Given the description of an element on the screen output the (x, y) to click on. 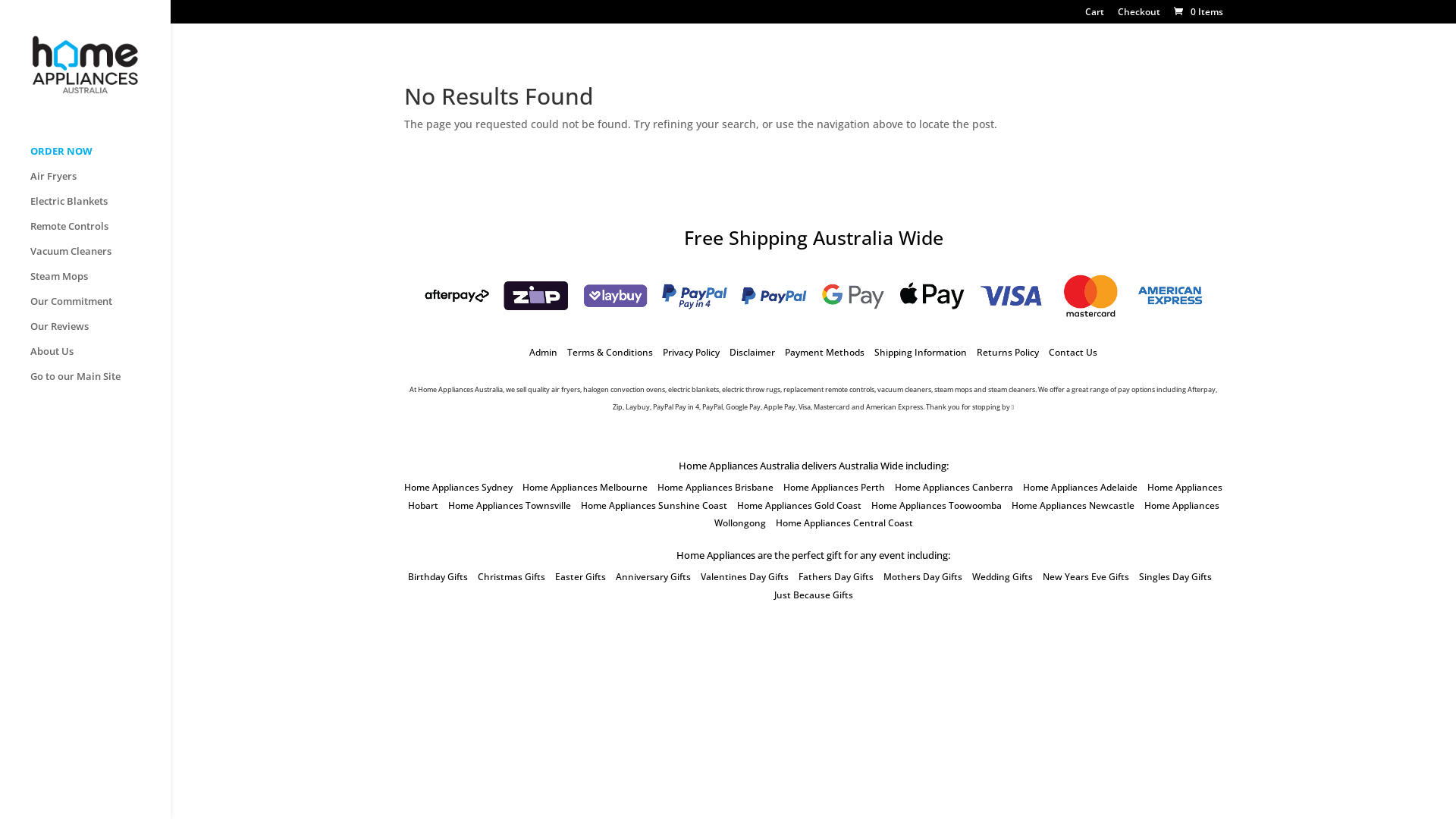
Wedding Gifts Element type: text (1002, 576)
Returns Policy Element type: text (1007, 351)
Home Appliances Hobart Element type: text (815, 495)
0 Items Element type: text (1196, 11)
Home Appliances Toowoomba Element type: text (935, 504)
Valentines Day Gifts Element type: text (744, 576)
New Years Eve Gifts Element type: text (1084, 576)
Go to our Main Site Element type: text (100, 382)
Steam Mops Element type: text (100, 282)
Home Appliances Wollongong Element type: text (966, 514)
Our Reviews Element type: text (100, 332)
Terms & Conditions Element type: text (609, 351)
Home Appliances Sydney Element type: text (458, 486)
Home Appliances Central Coast Element type: text (843, 522)
Home Appliances Brisbane Element type: text (715, 486)
Home Appliances Canberra Element type: text (953, 486)
Singles Day Gifts Element type: text (1175, 576)
ORDER NOW Element type: text (100, 157)
Fathers Day Gifts Element type: text (834, 576)
About Us Element type: text (100, 357)
Cart Element type: text (1093, 15)
Anniversary Gifts Element type: text (652, 576)
Vacuum Cleaners Element type: text (100, 257)
Admin Element type: text (543, 351)
Home Appliances Townsville Element type: text (508, 504)
Birthday Gifts Element type: text (437, 576)
Easter Gifts Element type: text (580, 576)
Christmas Gifts Element type: text (511, 576)
Checkout Element type: text (1138, 15)
Payment Methods Element type: text (824, 351)
Privacy Policy Element type: text (690, 351)
Home Appliances Newcastle Element type: text (1072, 504)
Air Fryers Element type: text (100, 182)
Contact Us Element type: text (1072, 351)
Just Because Gifts Element type: text (812, 594)
Home Appliances Sunshine Coast Element type: text (653, 504)
Home Appliances Gold Coast Element type: text (799, 504)
Electric Blankets Element type: text (100, 207)
Mothers Day Gifts Element type: text (921, 576)
Disclaimer Element type: text (752, 351)
Our Commitment Element type: text (100, 307)
Remote Controls Element type: text (100, 232)
Home Appliances Melbourne Element type: text (584, 486)
Shipping Information Element type: text (920, 351)
Home Appliances Adelaide Element type: text (1079, 486)
Home Appliances Perth Element type: text (833, 486)
